Given the description of an element on the screen output the (x, y) to click on. 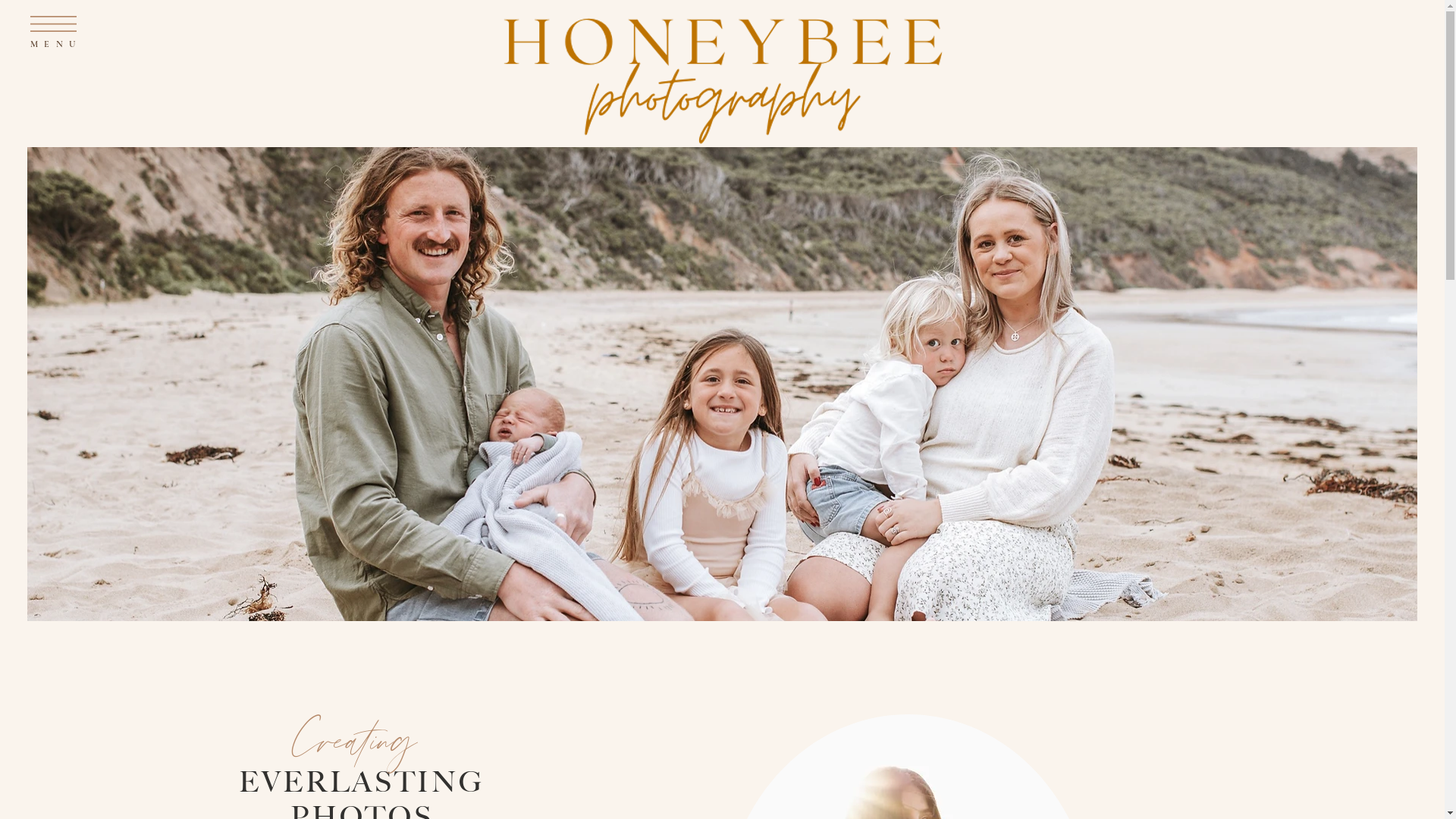
MENU Element type: text (55, 43)
